Given the description of an element on the screen output the (x, y) to click on. 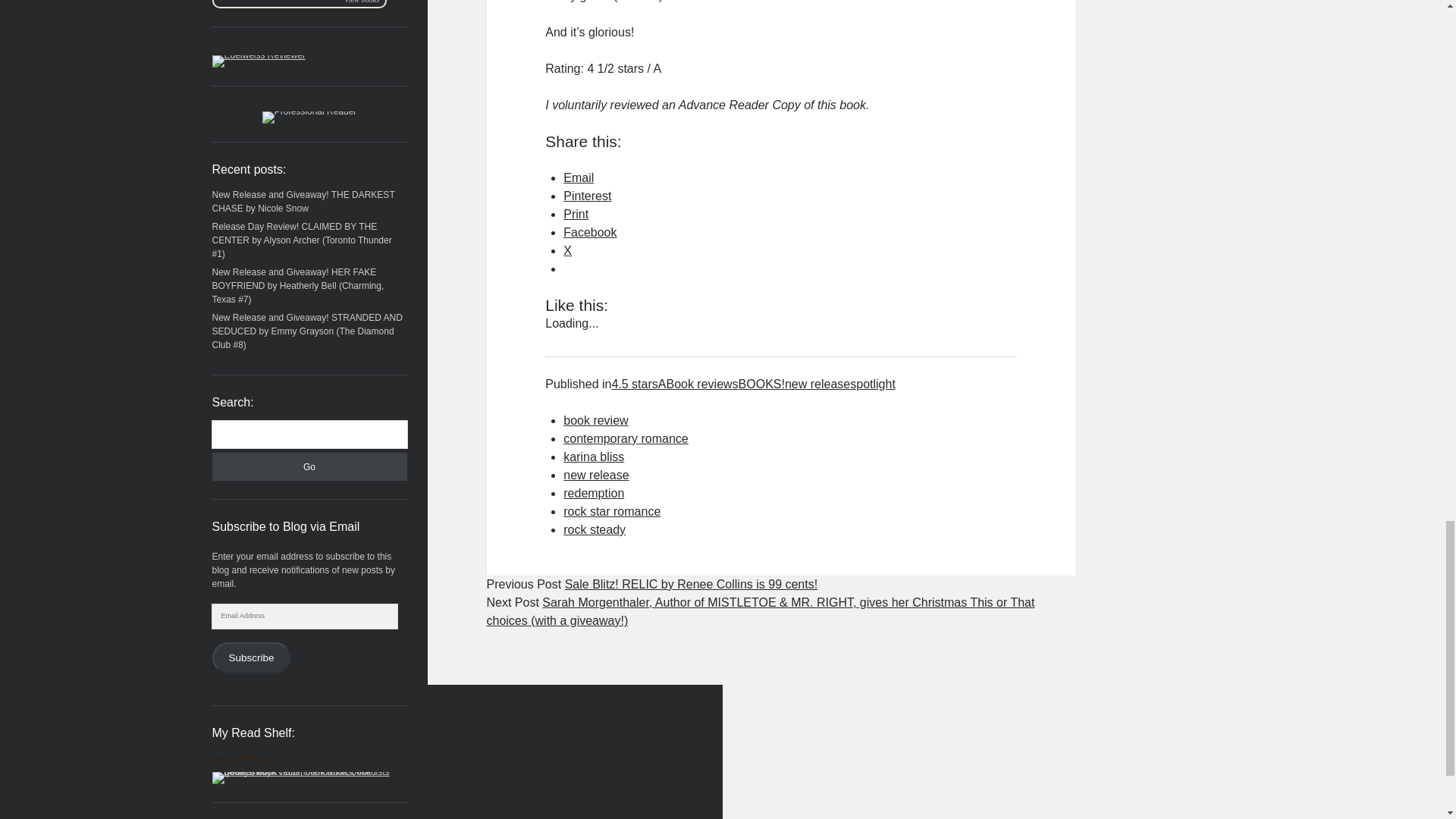
Go (309, 466)
Go (309, 466)
